Given the description of an element on the screen output the (x, y) to click on. 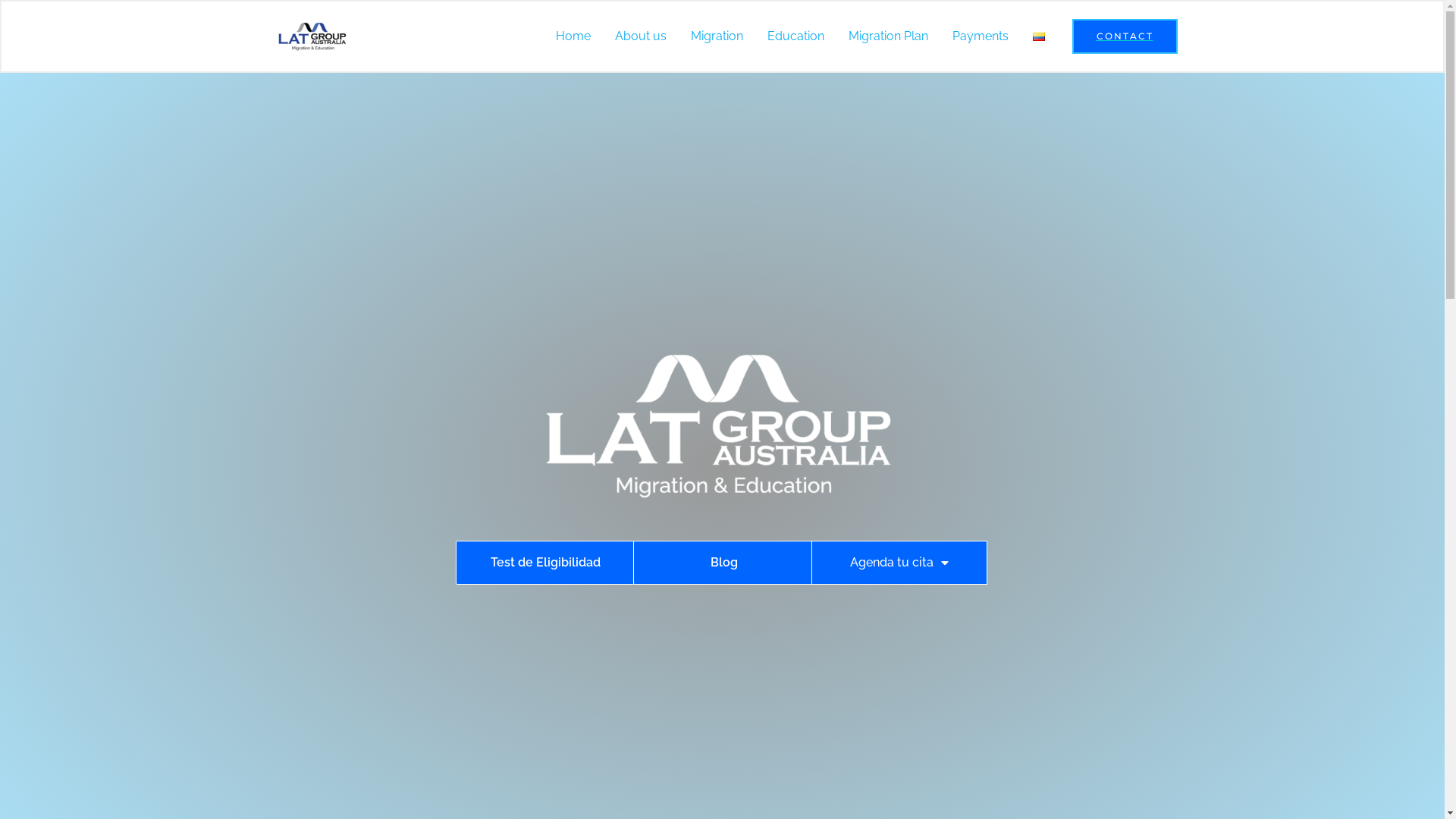
About us Element type: text (639, 36)
Migration Element type: text (715, 36)
Blog Element type: text (721, 562)
Home Element type: text (572, 36)
Agenda tu cita Element type: text (898, 562)
Education Element type: text (795, 36)
CONTACT Element type: text (1124, 35)
Test de Eligibilidad Element type: text (544, 562)
Payments Element type: text (980, 36)
Migration Plan Element type: text (887, 36)
